Given the description of an element on the screen output the (x, y) to click on. 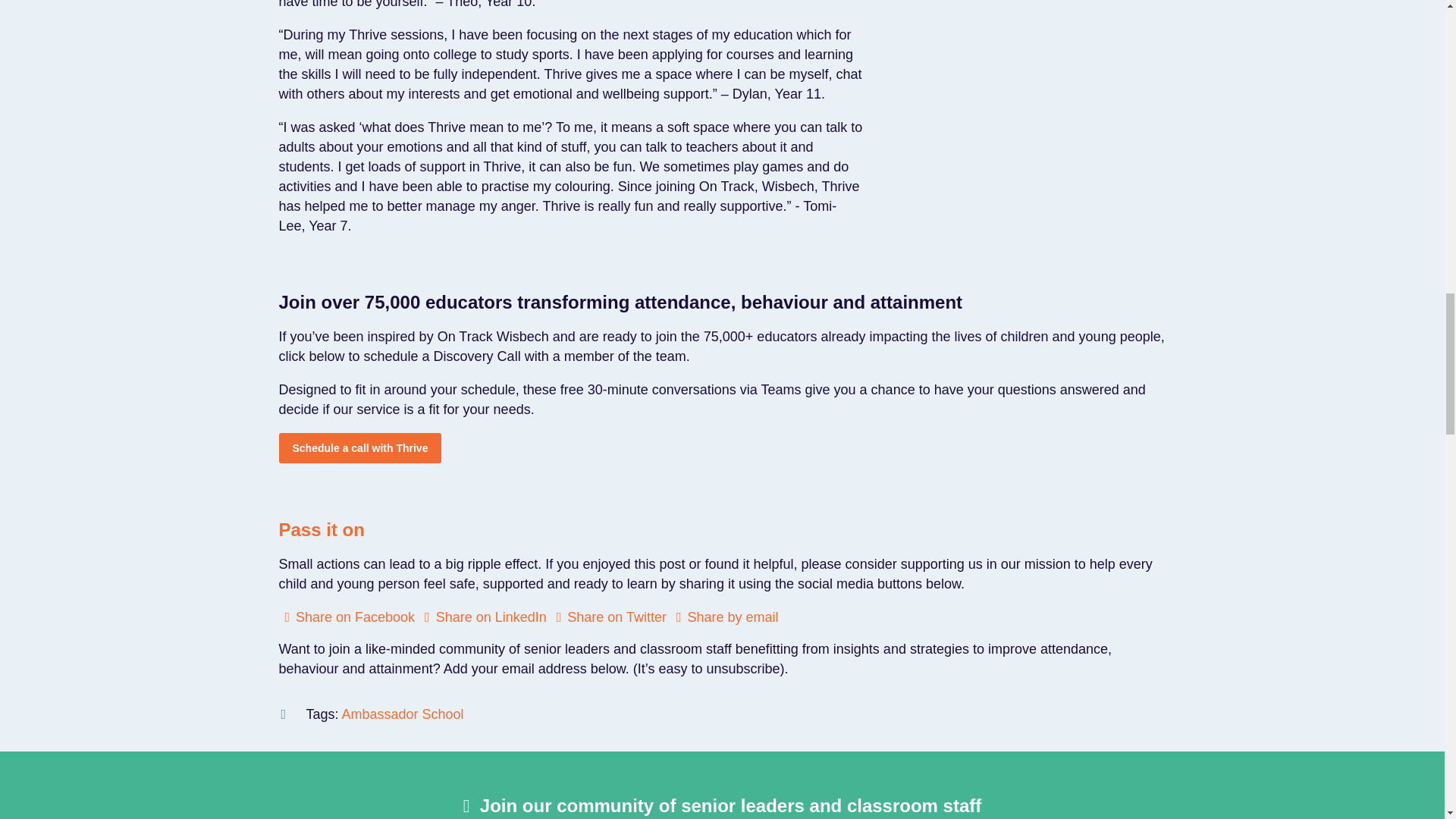
Share on LinkedIn (483, 616)
Share on Twitter (608, 616)
Share on Facebook (346, 616)
Share by email (723, 616)
